Given the description of an element on the screen output the (x, y) to click on. 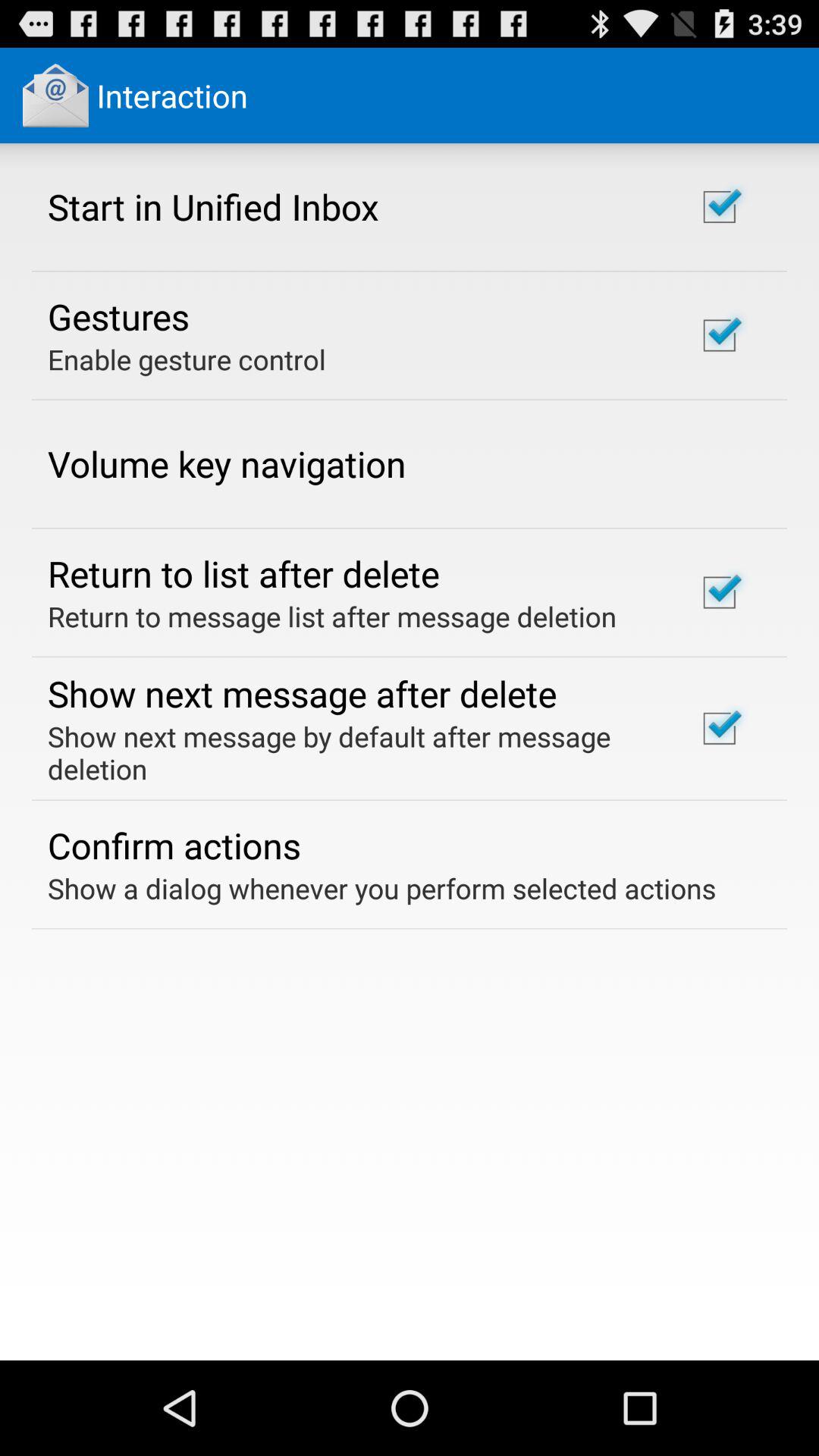
swipe to enable gesture control icon (186, 359)
